Given the description of an element on the screen output the (x, y) to click on. 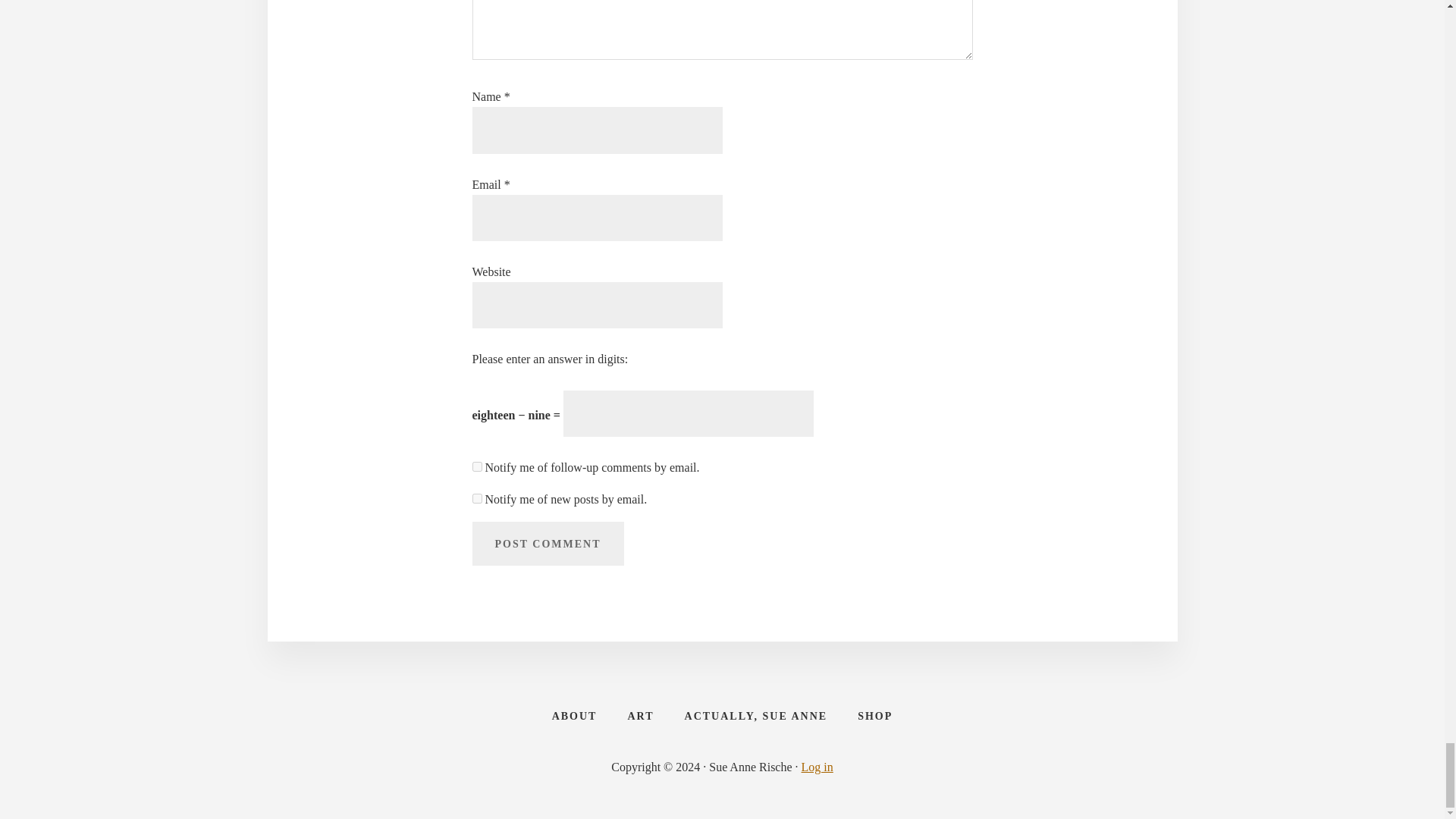
Post Comment (547, 543)
subscribe (476, 498)
ACTUALLY, SUE ANNE (756, 716)
Post Comment (547, 543)
subscribe (476, 466)
SHOP (875, 716)
ART (639, 716)
ABOUT (574, 716)
